Given the description of an element on the screen output the (x, y) to click on. 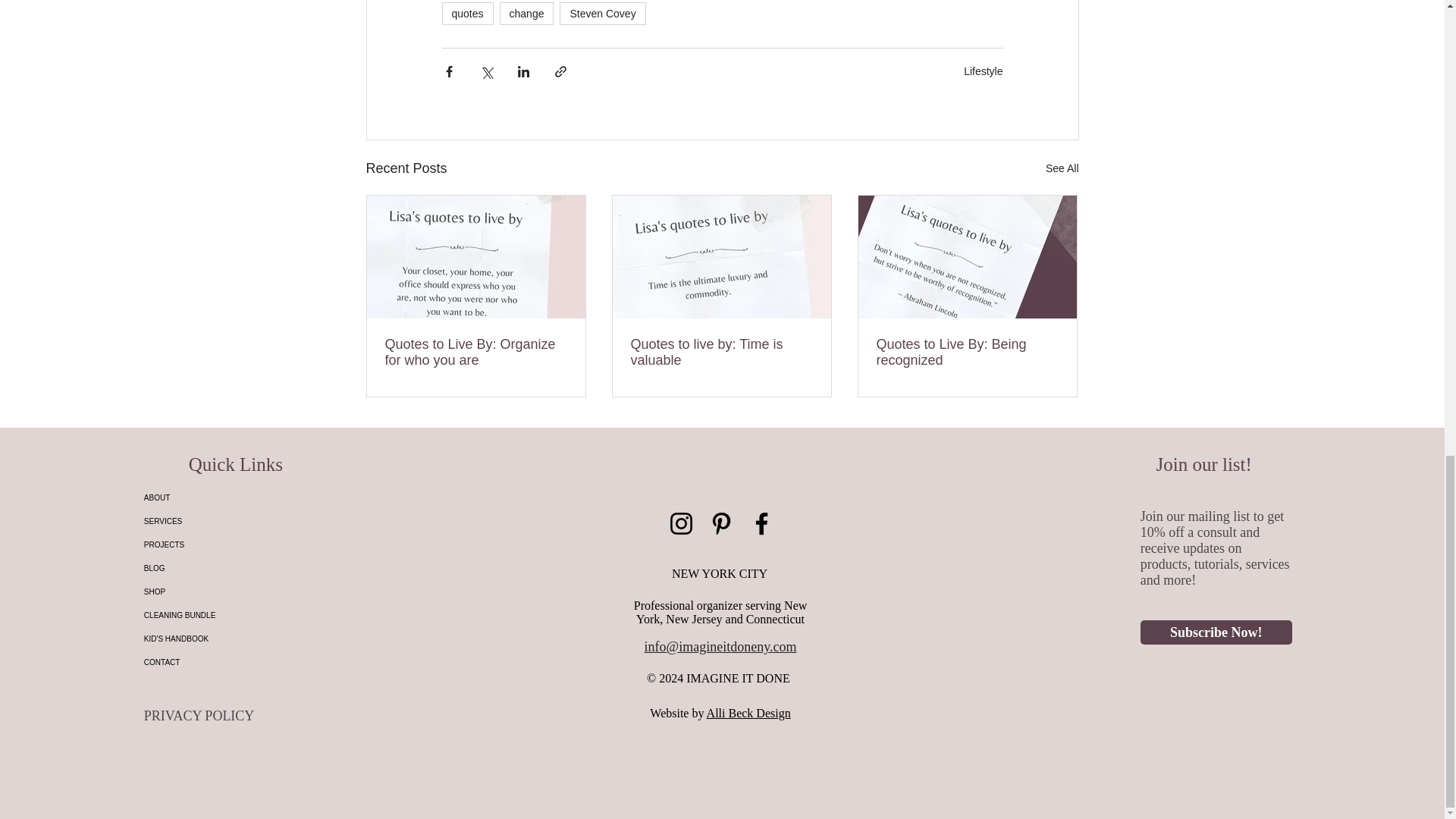
See All (1061, 168)
change (526, 13)
Quotes to live by: Time is valuable (721, 352)
Quotes to Live By: Being recognized (967, 352)
Embedded Content (1216, 664)
quotes (467, 13)
Steven Covey (602, 13)
Quotes to Live By: Organize for who you are (476, 352)
Lifestyle (983, 70)
Site Search (1215, 707)
